Given the description of an element on the screen output the (x, y) to click on. 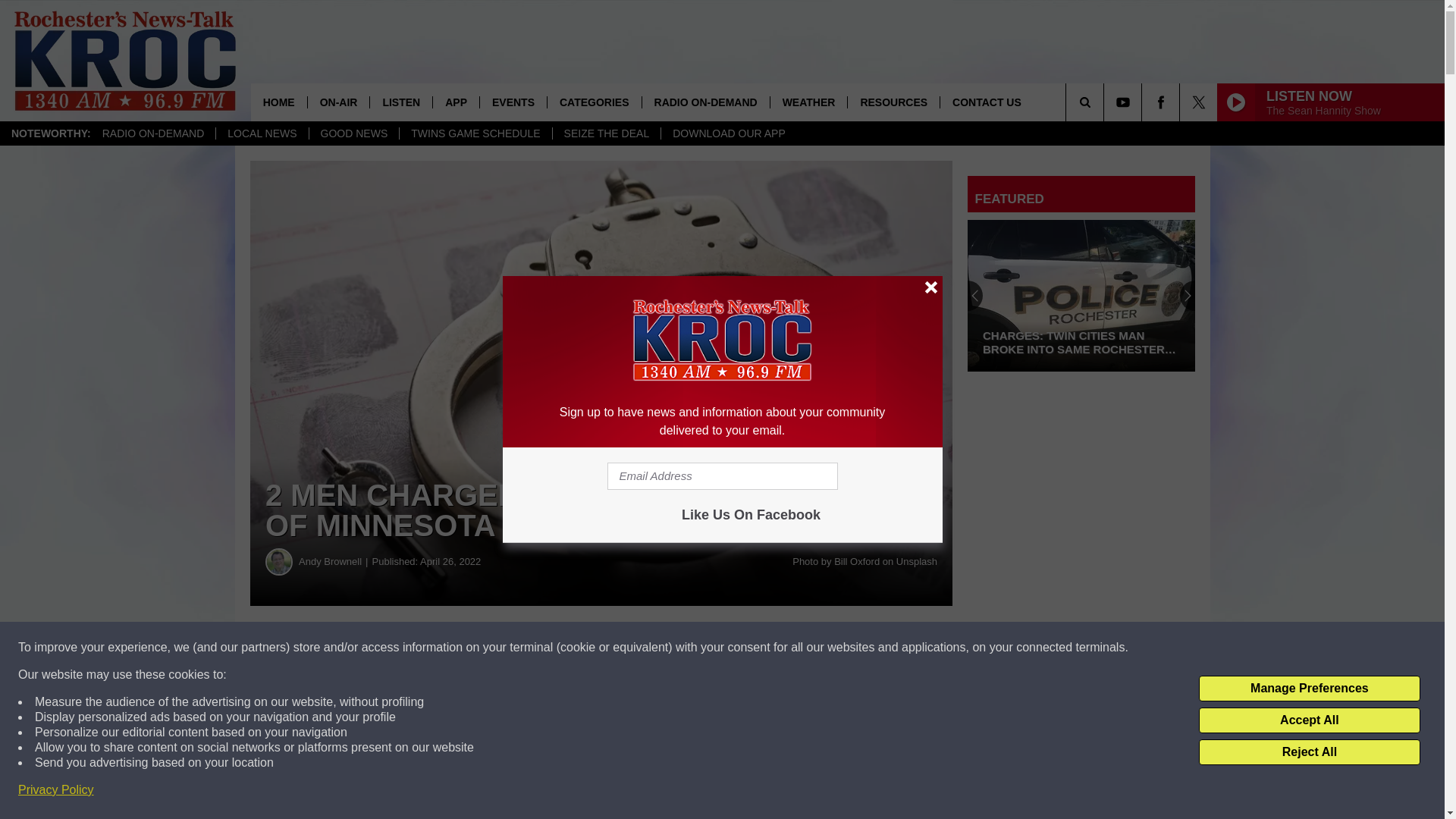
Reject All (1309, 751)
DOWNLOAD OUR APP (728, 133)
ON-AIR (338, 102)
LOCAL NEWS (261, 133)
Manage Preferences (1309, 688)
TWINS GAME SCHEDULE (474, 133)
SEARCH (1106, 102)
Share on Twitter (741, 647)
SEIZE THE DEAL (606, 133)
GOOD NEWS (353, 133)
HOME (278, 102)
Accept All (1309, 720)
Email Address (722, 475)
Privacy Policy (55, 789)
Share on Facebook (460, 647)
